Given the description of an element on the screen output the (x, y) to click on. 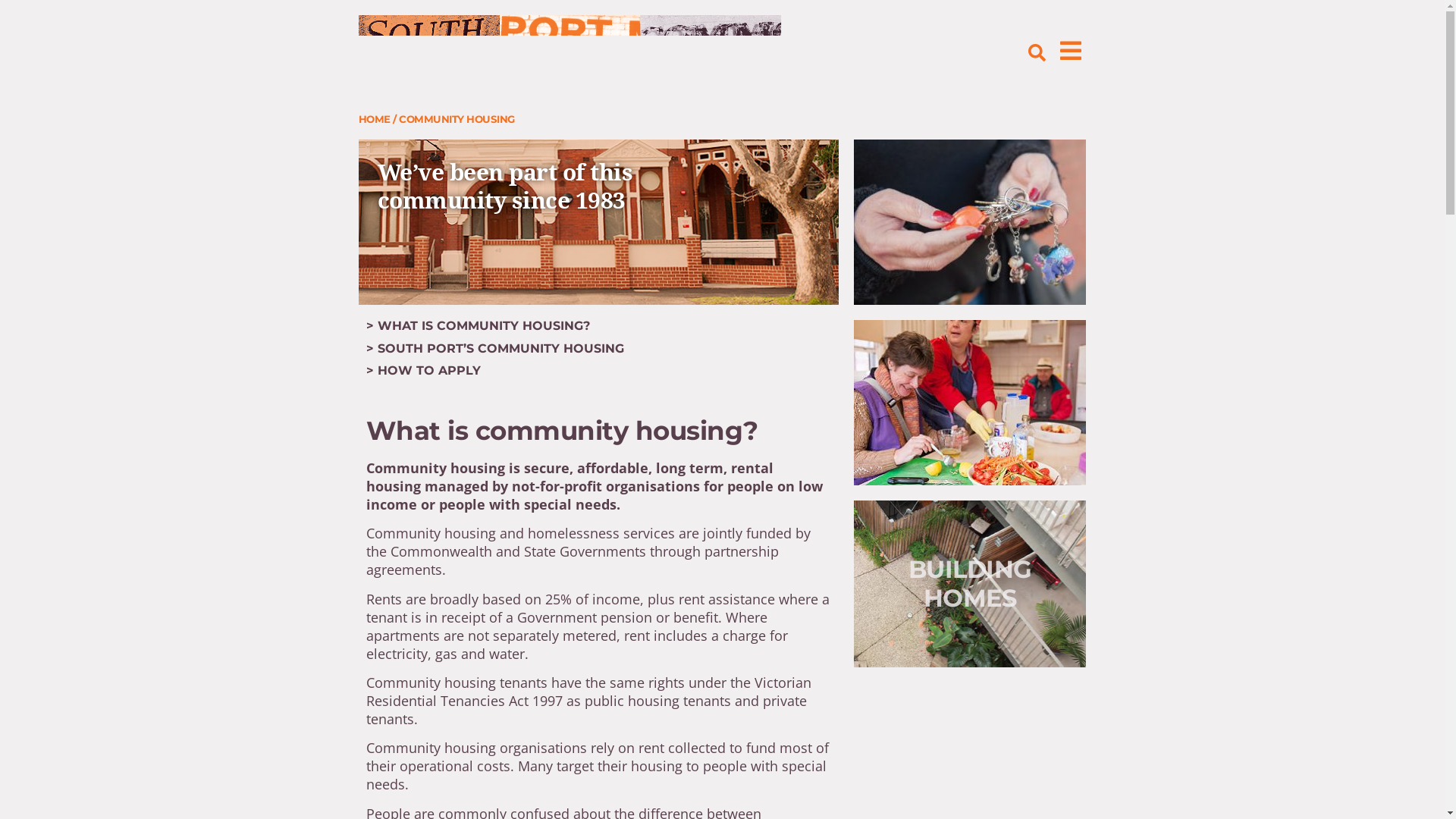
> HOW TO APPLY Element type: text (422, 370)
> WHAT IS COMMUNITY HOUSING? Element type: text (477, 325)
community-housing-sharehouse Element type: hover (969, 402)
community-housing-keys Element type: hover (969, 221)
HOME Element type: text (373, 118)
BUILDING HOMES Element type: text (970, 583)
